Given the description of an element on the screen output the (x, y) to click on. 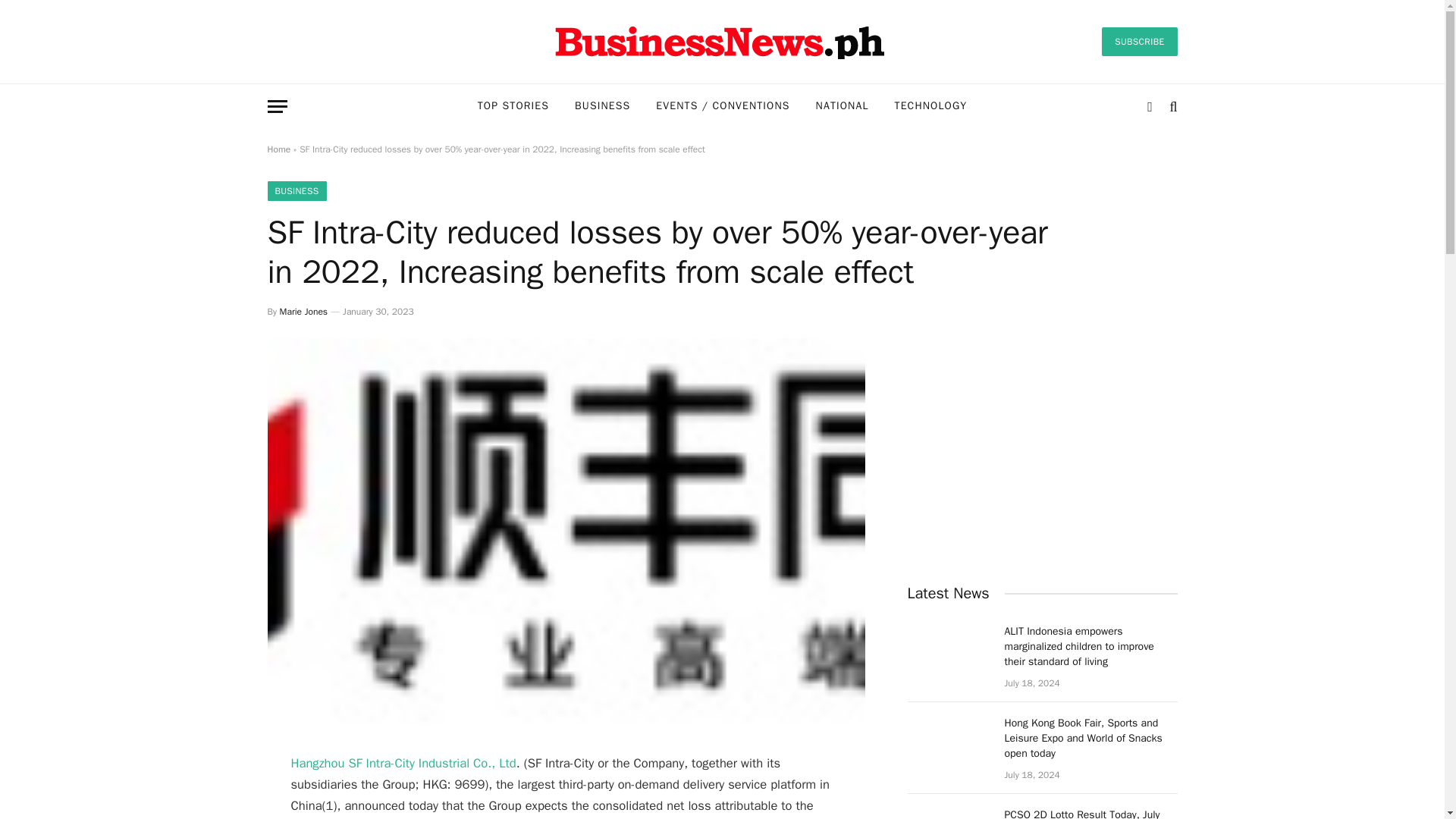
NATIONAL (842, 106)
BusinessNews.ph (721, 41)
SUBSCRIBE (1139, 41)
BUSINESS (296, 190)
Home (277, 149)
Hangzhou SF Intra-City Industrial Co., Ltd (403, 763)
Posts by Marie Jones (304, 311)
Switch to Dark Design - easier on eyes. (1149, 106)
BUSINESS (602, 106)
TECHNOLOGY (930, 106)
TOP STORIES (513, 106)
Marie Jones (304, 311)
